Given the description of an element on the screen output the (x, y) to click on. 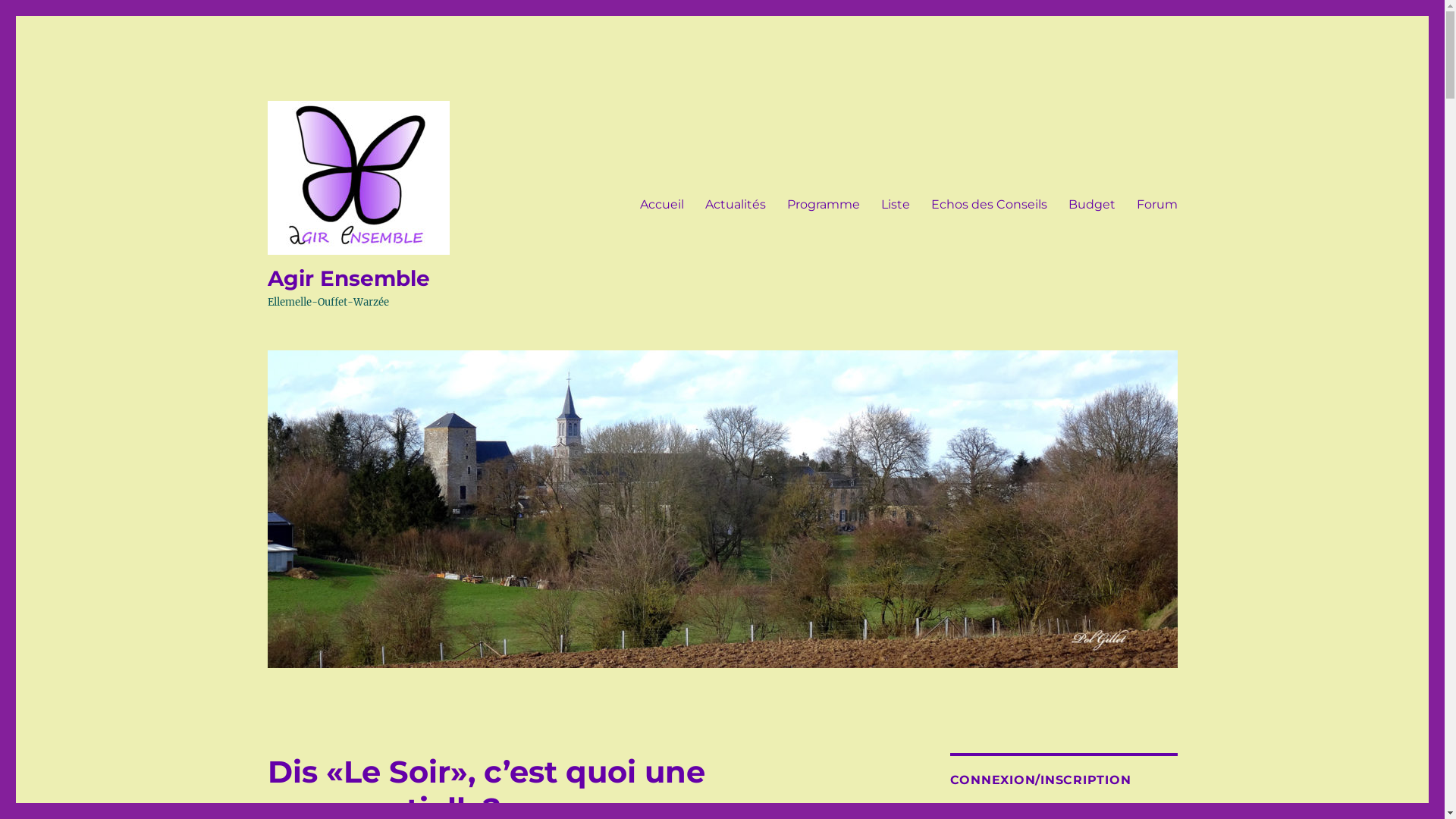
Budget Element type: text (1091, 203)
Accueil Element type: text (661, 203)
Echos des Conseils Element type: text (988, 203)
Forum Element type: text (1156, 203)
Liste Element type: text (895, 203)
Agir Ensemble Element type: text (347, 278)
Programme Element type: text (823, 203)
